Given the description of an element on the screen output the (x, y) to click on. 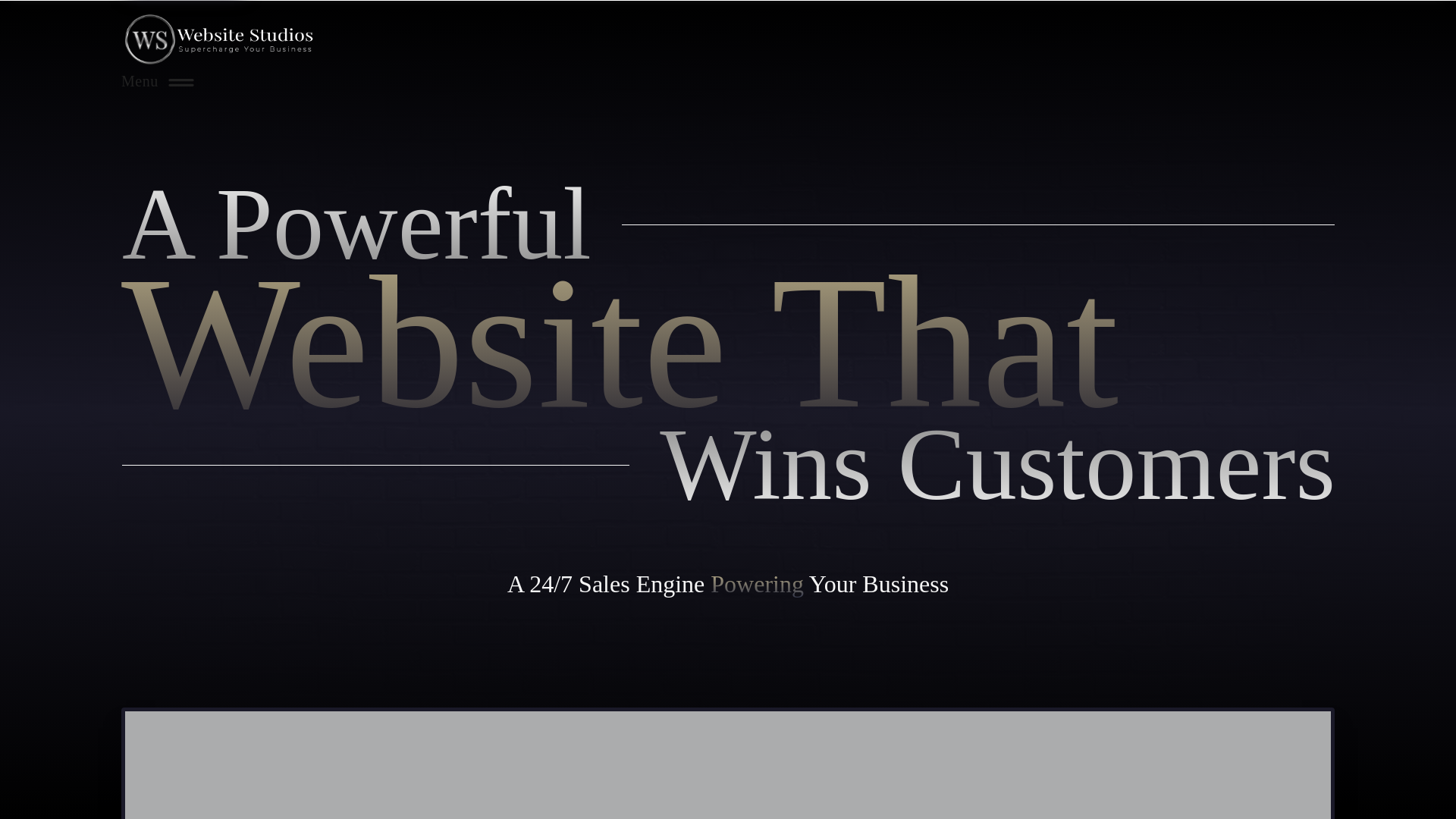
Menu (158, 80)
